Given the description of an element on the screen output the (x, y) to click on. 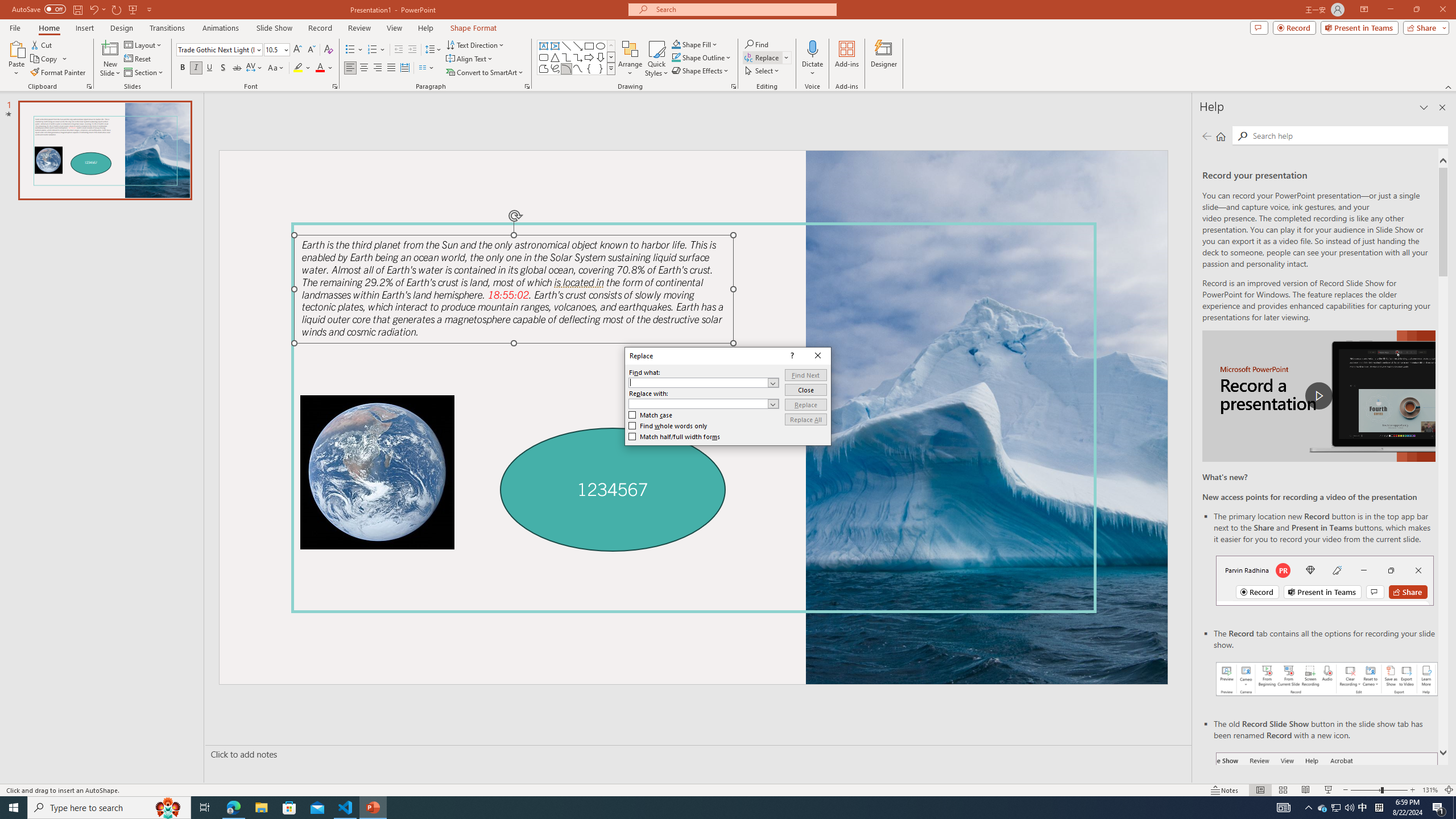
Replace All (805, 418)
Match half/full width forms (674, 436)
